Given the description of an element on the screen output the (x, y) to click on. 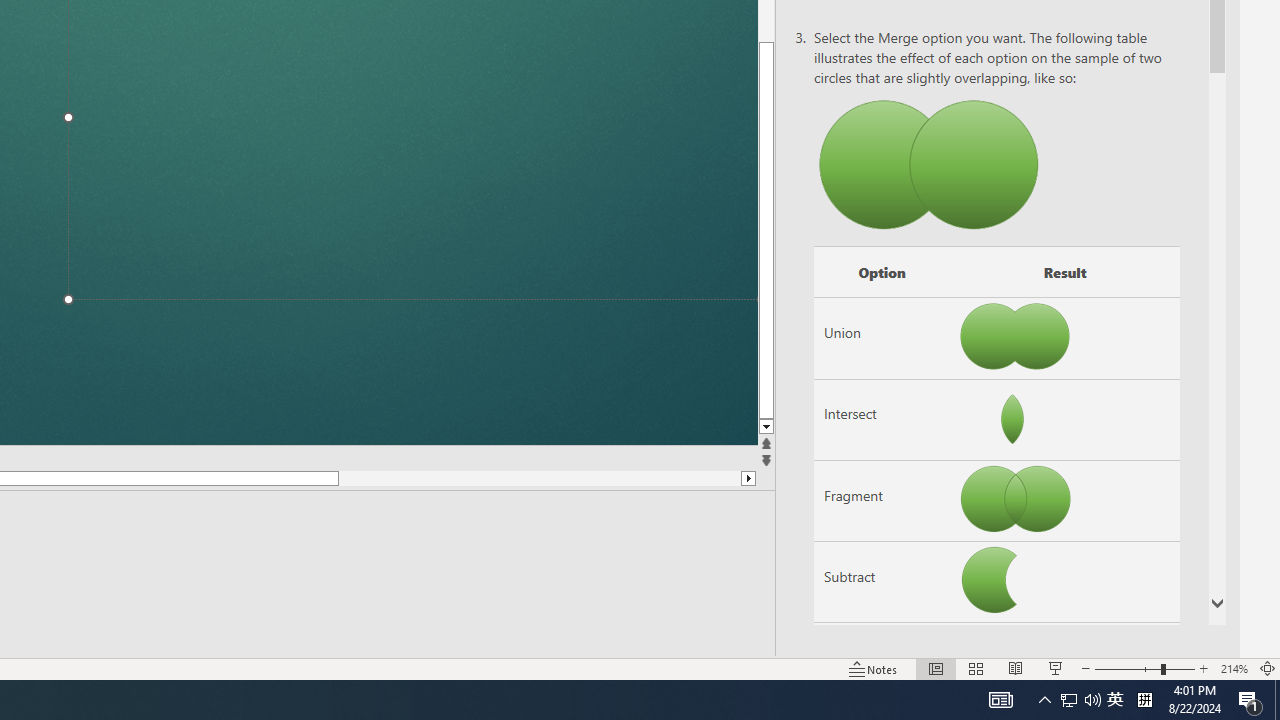
Combine (881, 663)
Union (881, 338)
Intersect (881, 419)
Fragment (881, 501)
